Given the description of an element on the screen output the (x, y) to click on. 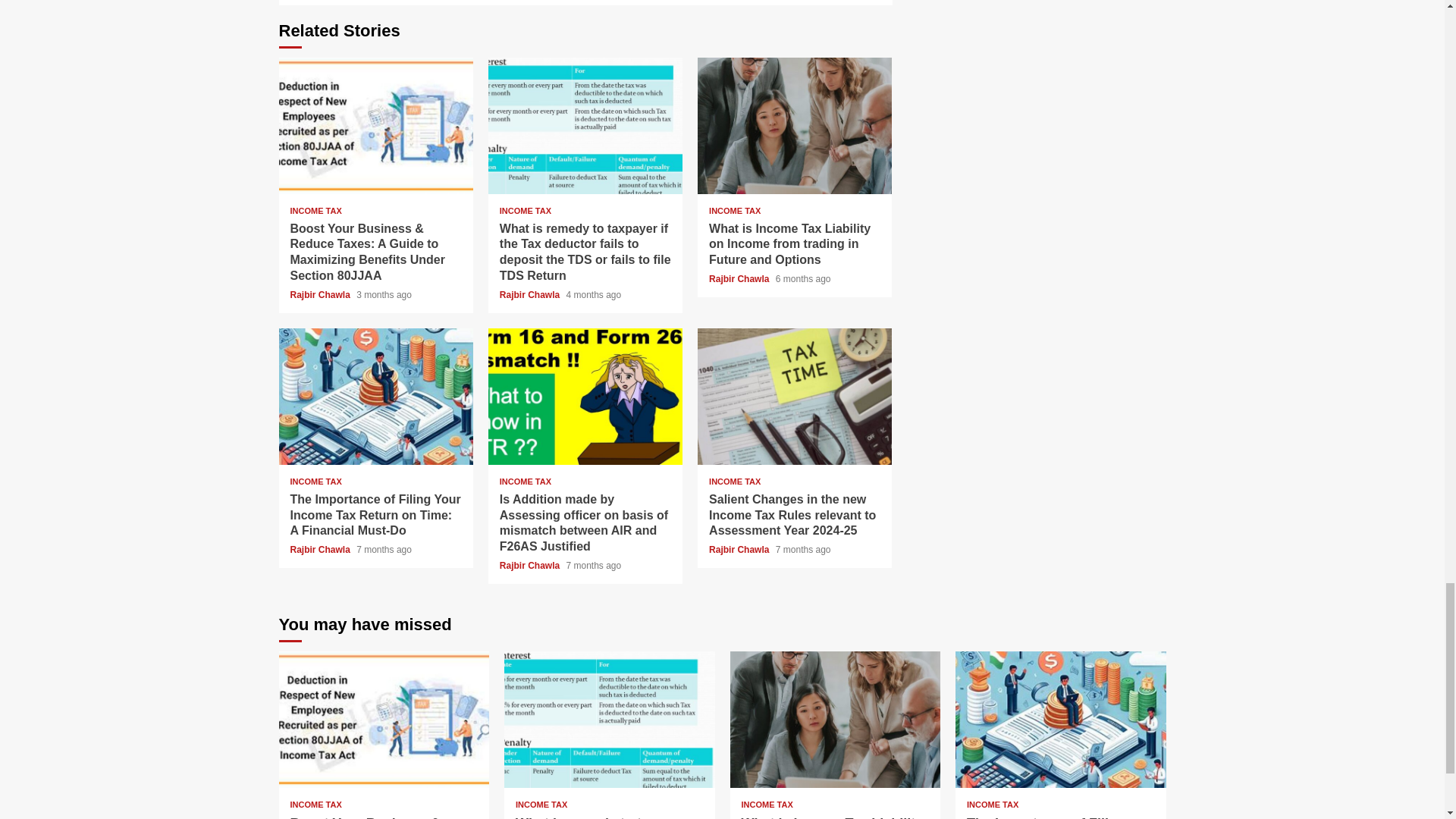
INCOME TAX (314, 211)
Rajbir Chawla (530, 294)
INCOME TAX (525, 211)
Rajbir Chawla (320, 294)
INCOME TAX (314, 481)
Rajbir Chawla (740, 278)
